Given the description of an element on the screen output the (x, y) to click on. 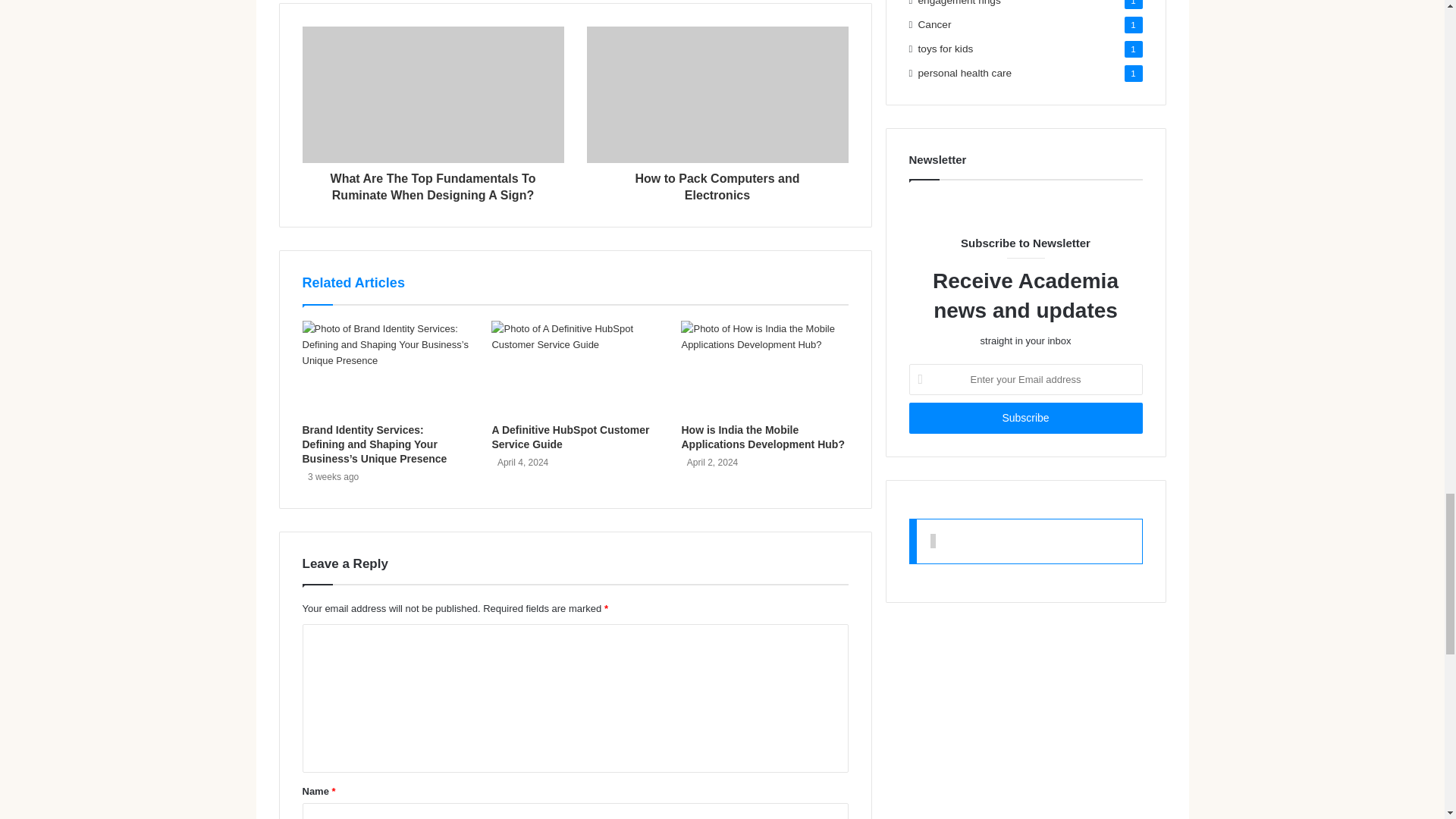
Subscribe (1025, 418)
